Given the description of an element on the screen output the (x, y) to click on. 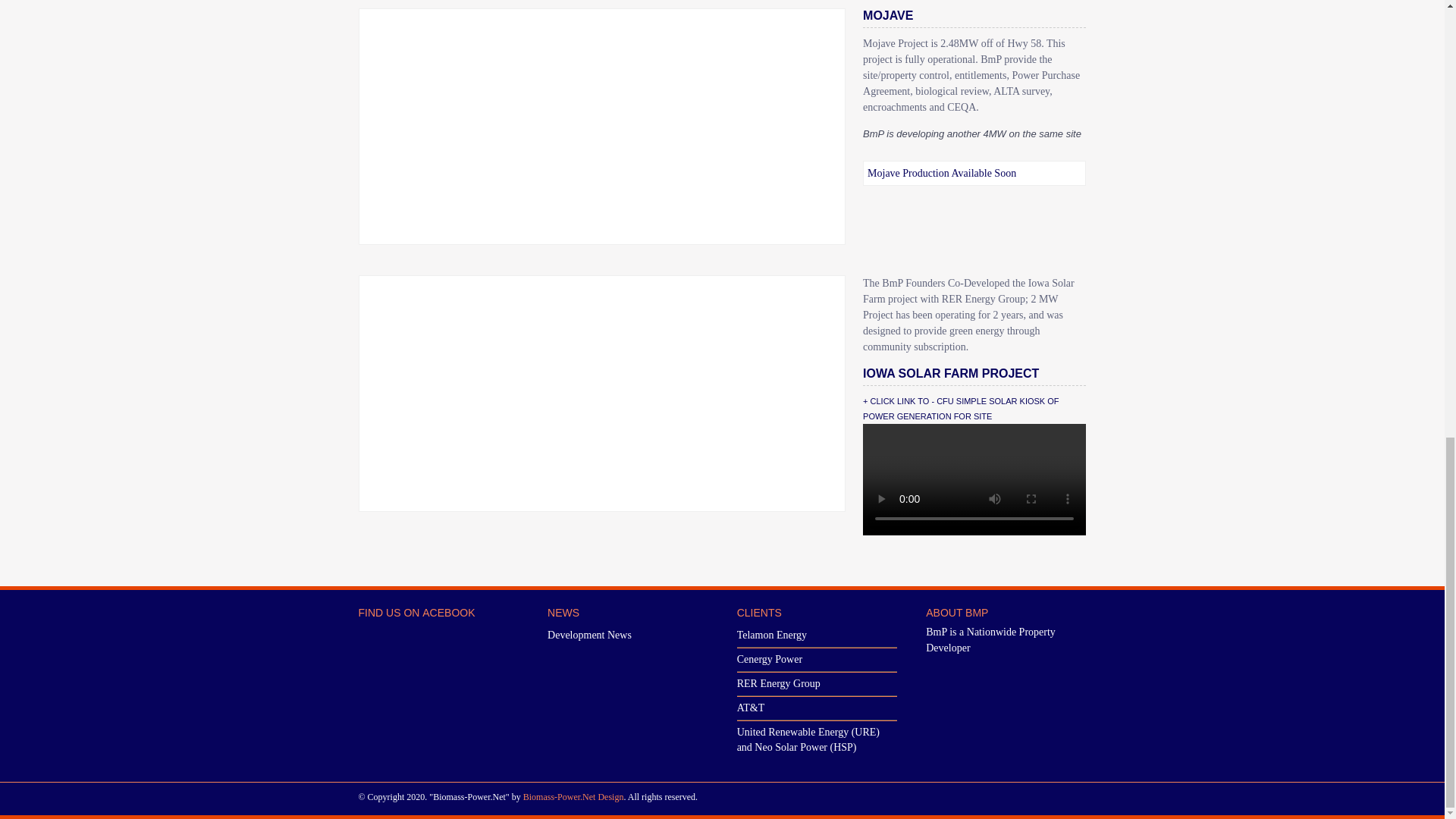
Biomass-Power.Net Design (573, 796)
RER Energy Group (778, 683)
Development News (589, 634)
Cenergy Power (769, 659)
Telamon Energy (771, 634)
Mojave Production Available Soon (941, 173)
